Given the description of an element on the screen output the (x, y) to click on. 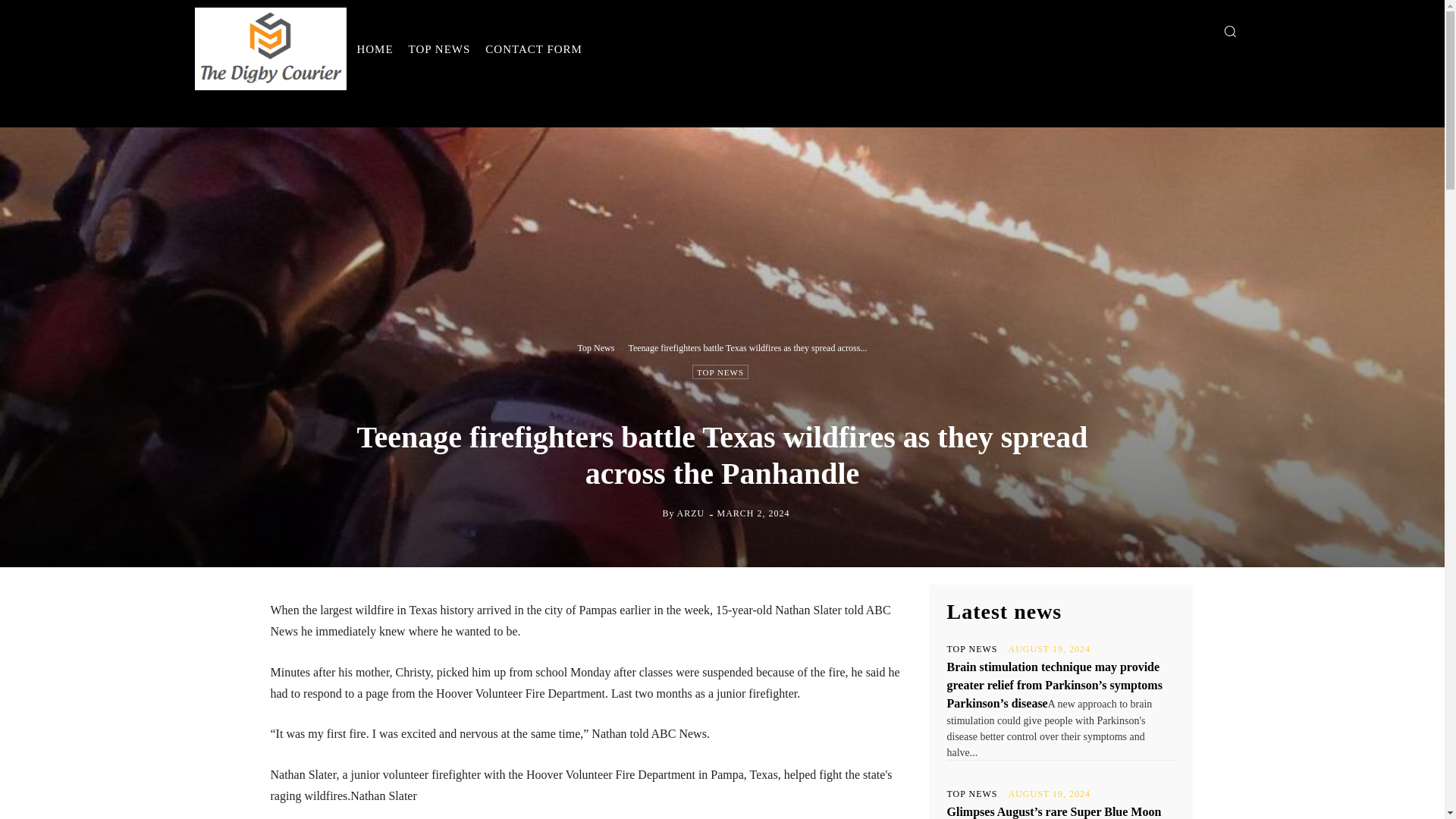
TOP NEWS (971, 793)
Arzu (649, 513)
ARZU (690, 512)
Top News (596, 347)
CONTACT FORM (533, 49)
View all posts in Top News (596, 347)
TOP NEWS (440, 49)
TOP NEWS (720, 371)
HOME (374, 49)
TOP NEWS (971, 648)
